Given the description of an element on the screen output the (x, y) to click on. 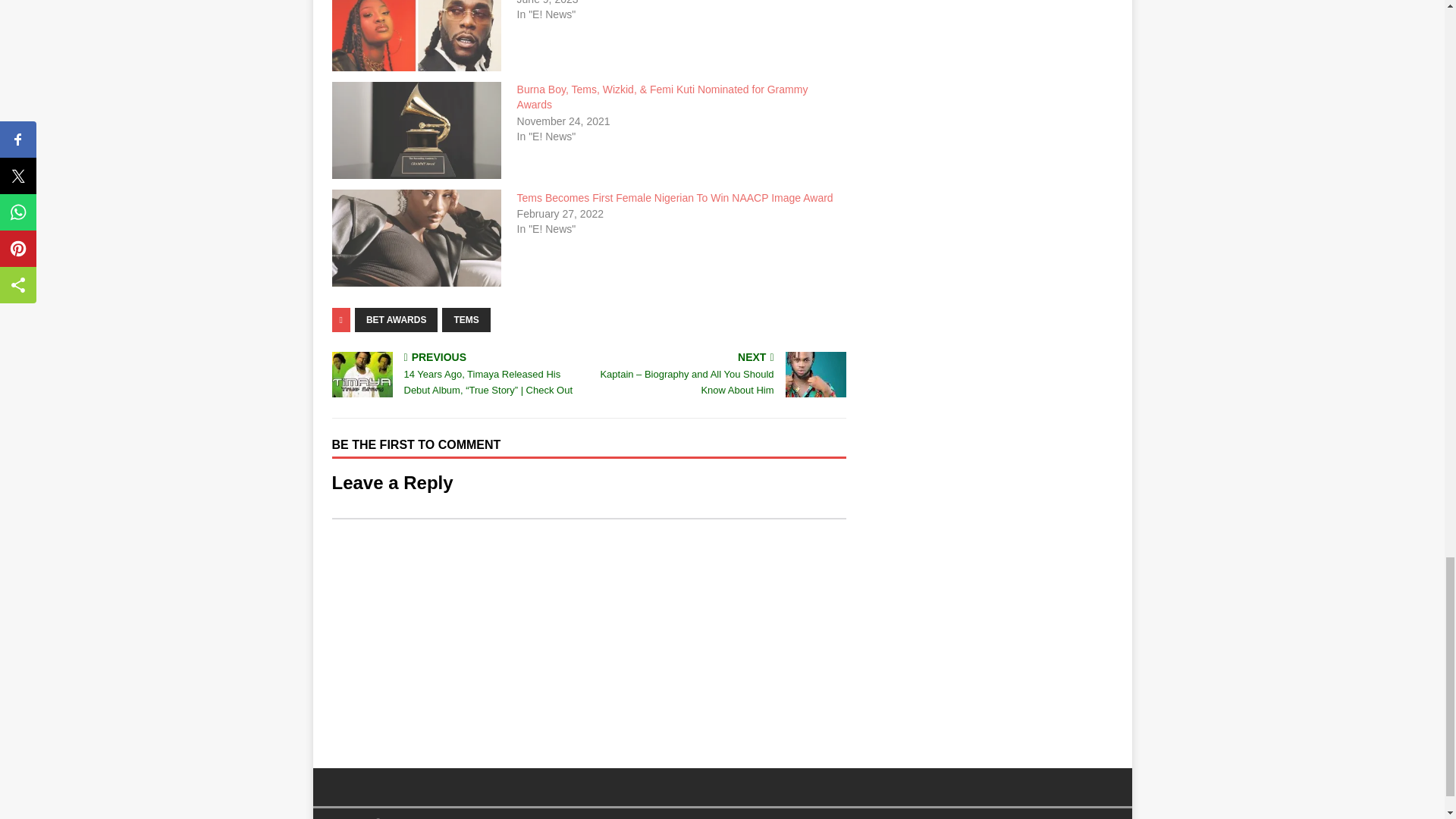
Tems Becomes First Female Nigerian To Win NAACP Image Award (674, 197)
